Given the description of an element on the screen output the (x, y) to click on. 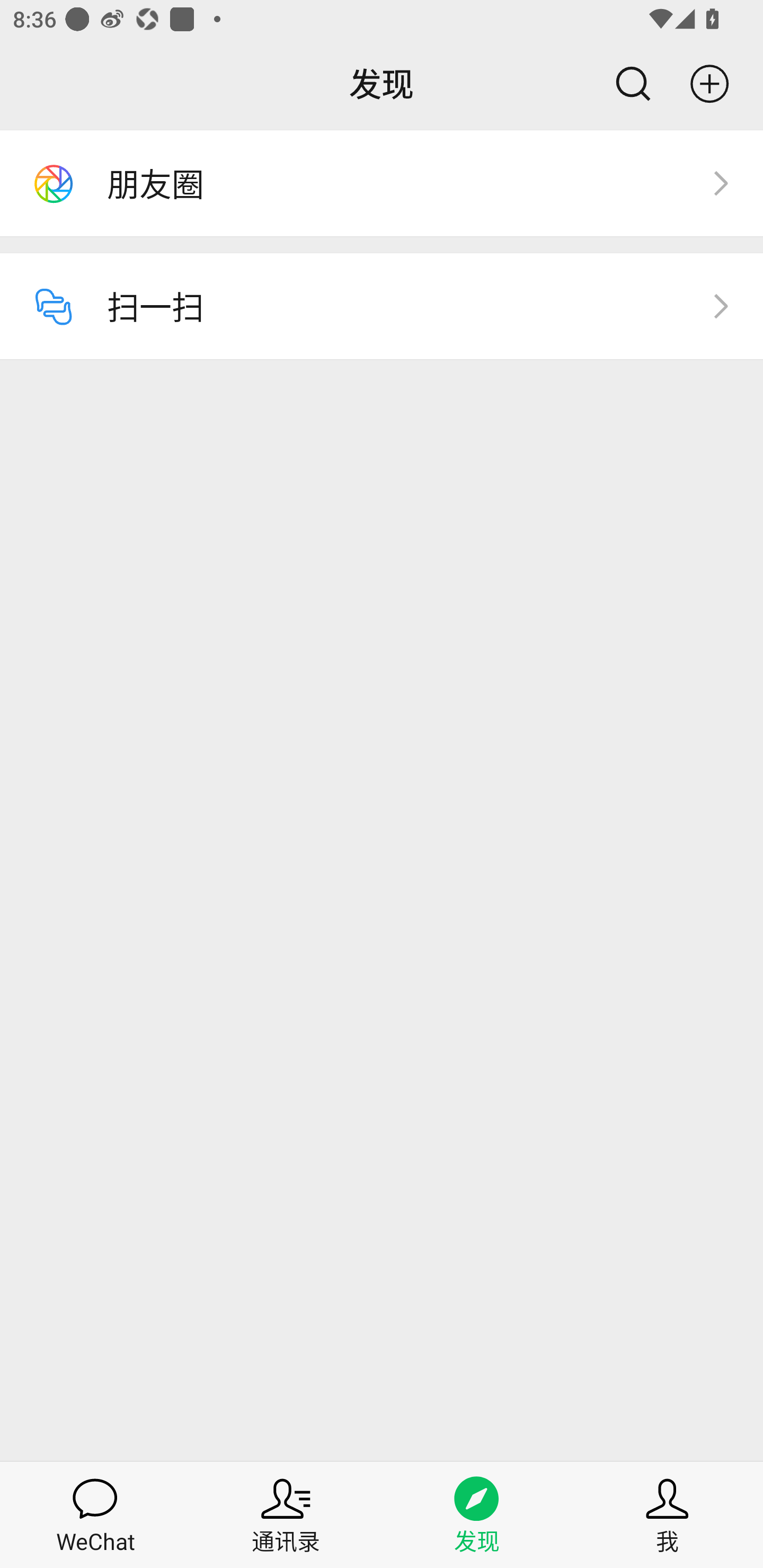
发现 搜索 更多功能按钮 (381, 83)
搜索 (625, 83)
更多功能按钮 (717, 83)
朋友圈 (381, 183)
扫一扫 (381, 306)
WeChat (95, 1514)
通讯录 (285, 1514)
发现 (476, 1514)
我 (667, 1514)
